Given the description of an element on the screen output the (x, y) to click on. 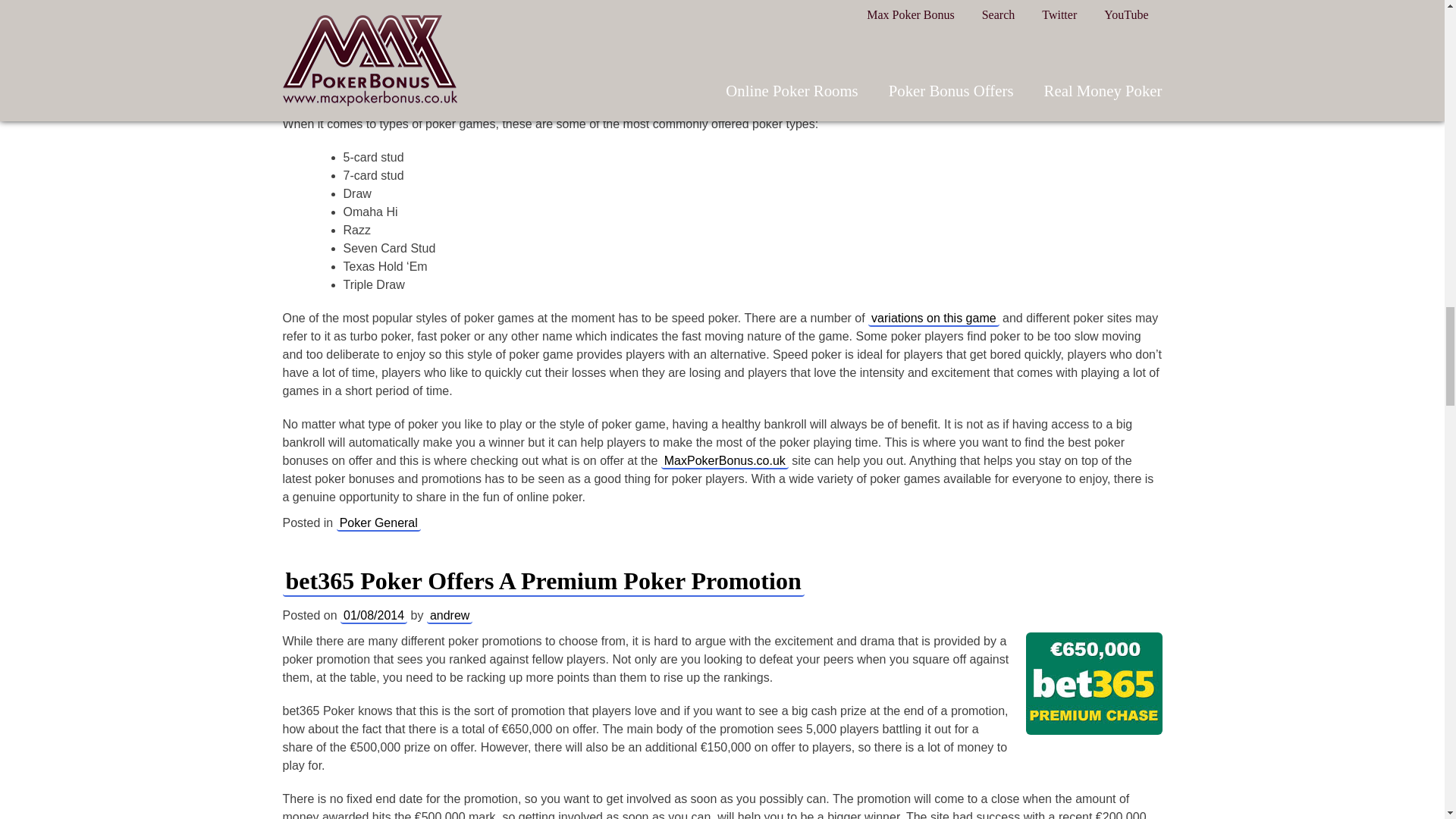
MaxPokerBonus.co.uk (725, 460)
andrew (448, 615)
variations on this game (932, 318)
bet365 Poker Offers A Premium Poker Promotion (542, 581)
Poker General (378, 523)
